Given the description of an element on the screen output the (x, y) to click on. 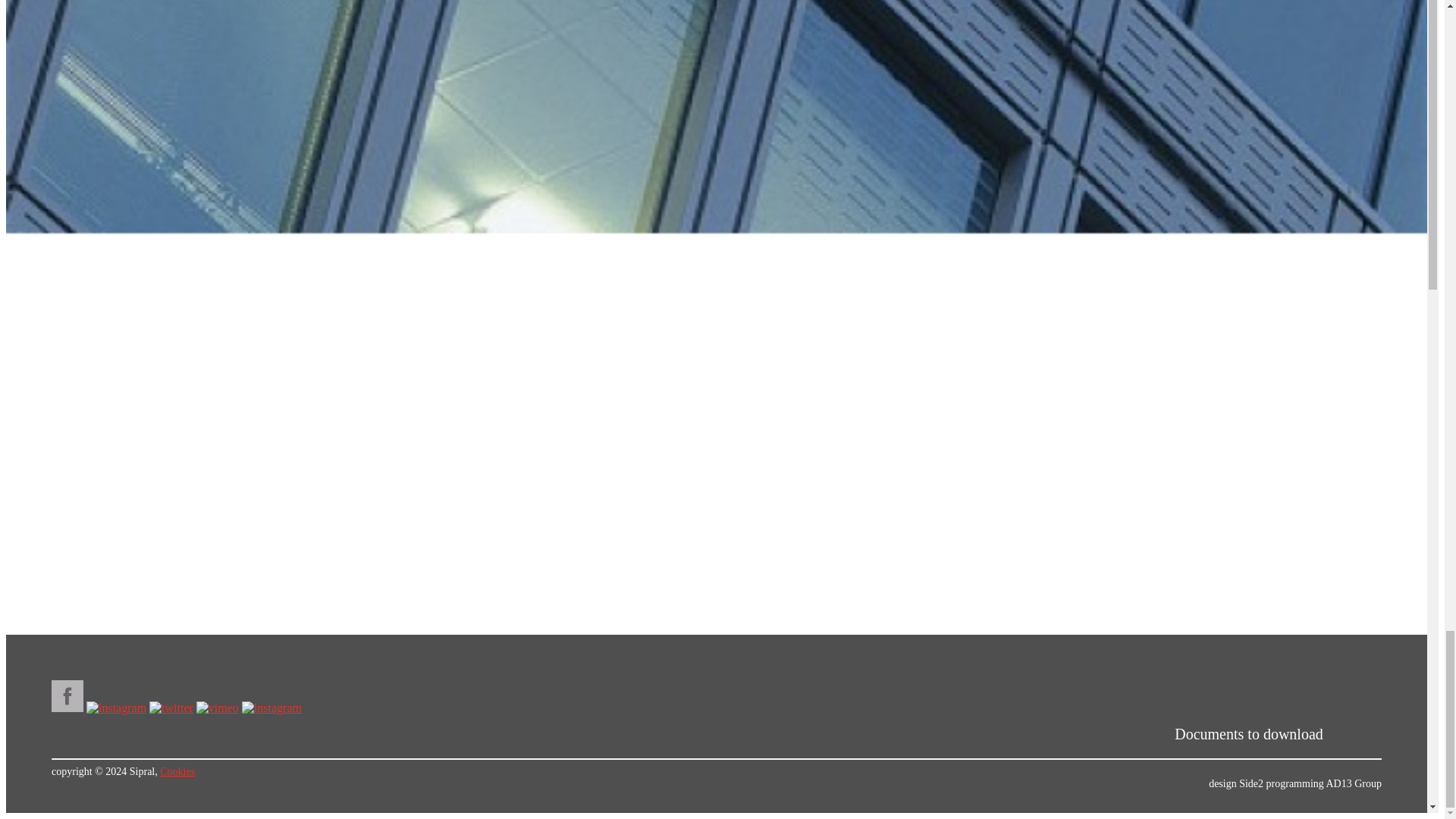
Cookies (177, 771)
Documents to download (1248, 733)
